Given the description of an element on the screen output the (x, y) to click on. 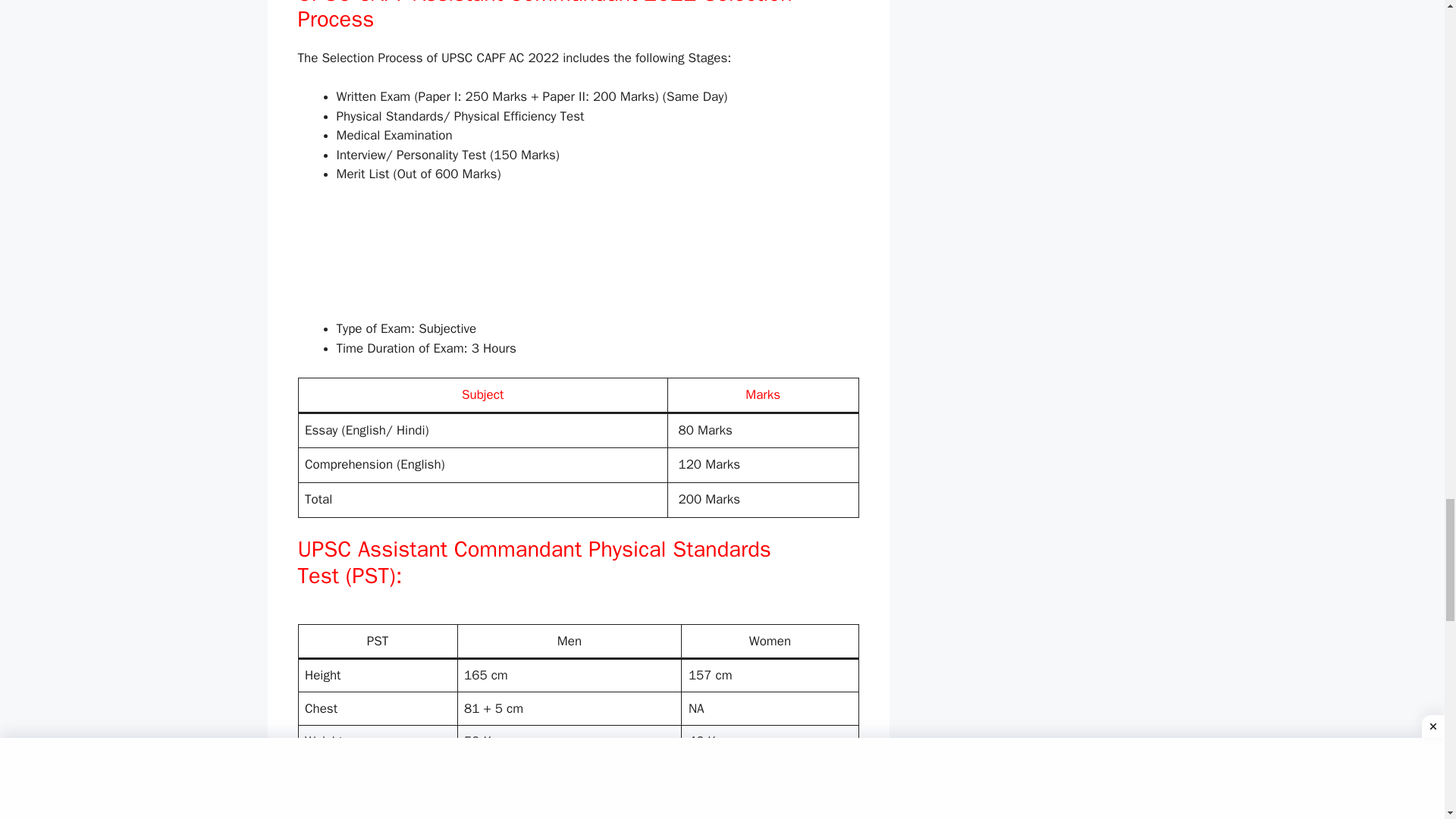
Advertisement (578, 614)
